Given the description of an element on the screen output the (x, y) to click on. 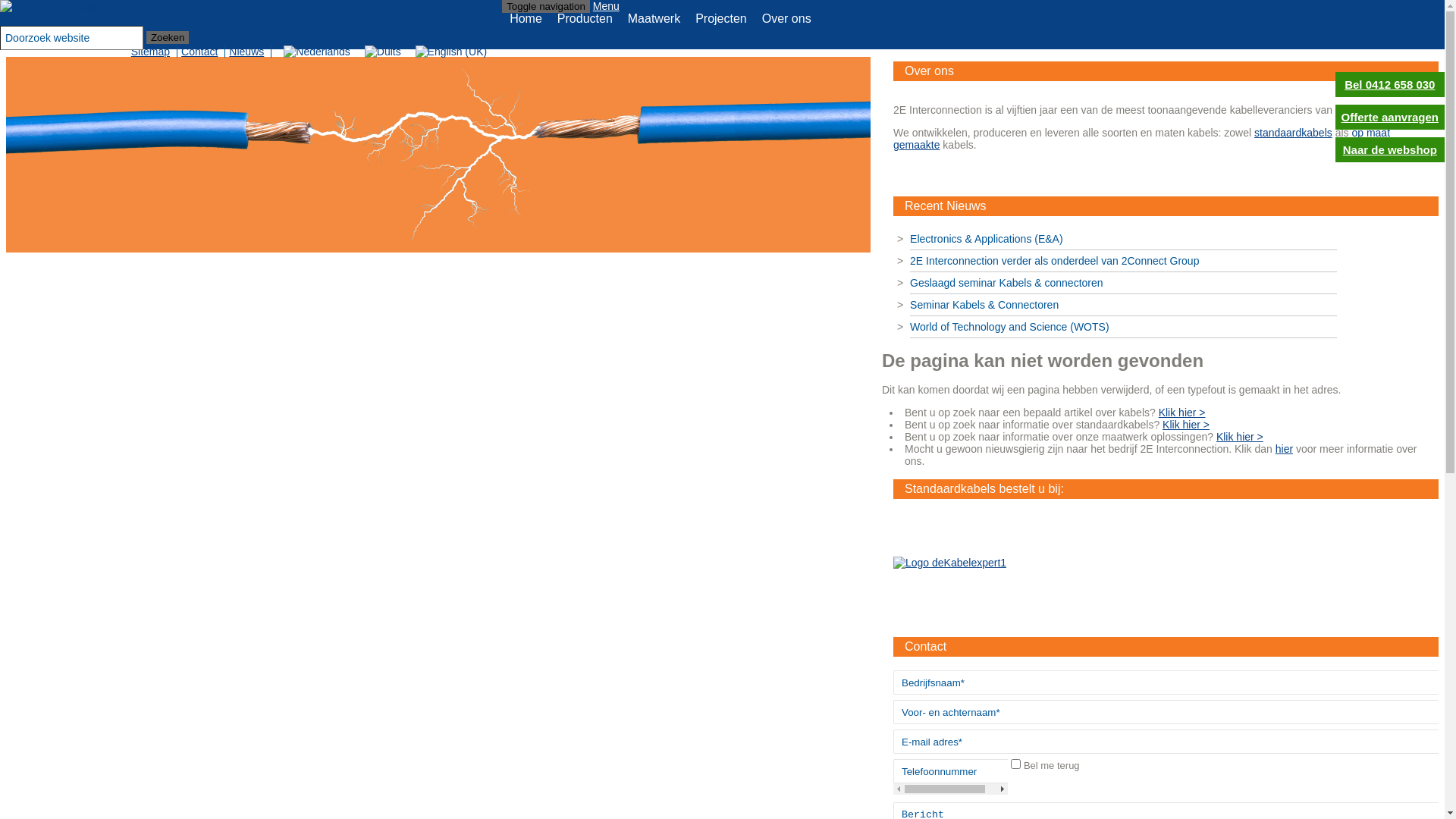
standaardkabels Element type: text (1293, 132)
Electronics & Applications (E&A) Element type: text (1123, 239)
Duits Element type: hover (382, 51)
Nederlands Element type: hover (316, 51)
Zoeken Element type: text (167, 37)
Offerte aanvragen Element type: text (1389, 116)
Contact Element type: text (203, 51)
2E Interconnection verder als onderdeel van 2Connect Group Element type: text (1123, 261)
Sitemap Element type: text (154, 51)
Seminar Kabels & Connectoren Element type: text (1123, 305)
hier Element type: text (1283, 448)
Klik hier > Element type: text (1181, 412)
World of Technology and Science (WOTS) Element type: text (1123, 327)
English (UK) Element type: hover (451, 51)
Toggle navigation Element type: text (545, 6)
Geslaagd seminar Kabels & connectoren Element type: text (1123, 283)
Klik hier > Element type: text (1239, 436)
Nieuws Element type: text (250, 51)
op maat gemaakte Element type: text (1141, 138)
Menu Element type: text (606, 6)
Bel 0412 658 030 Element type: text (1389, 84)
Klik hier > Element type: text (1185, 424)
Naar de webshop Element type: text (1389, 149)
